Given the description of an element on the screen output the (x, y) to click on. 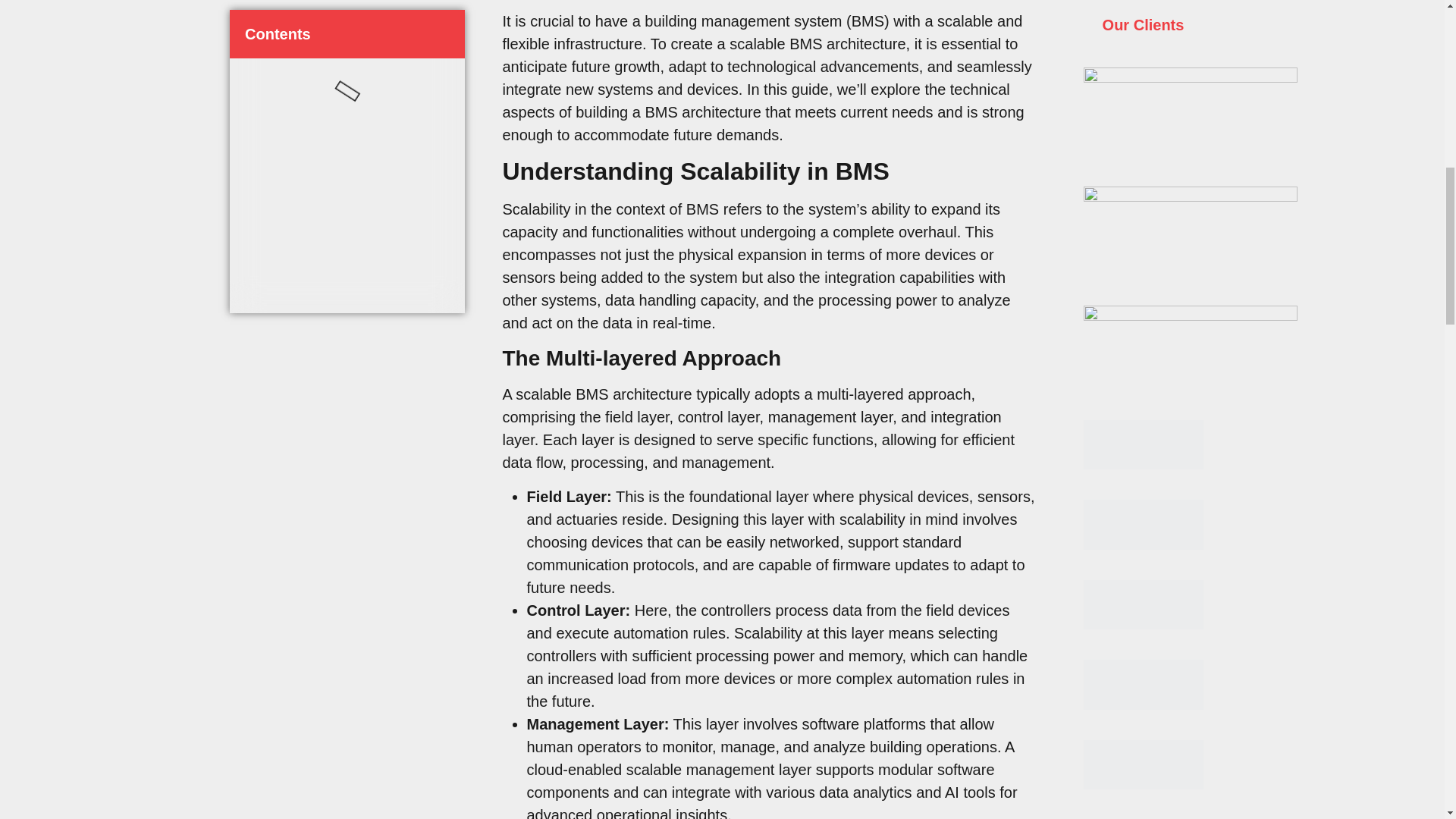
ASTC (1142, 765)
